Given the description of an element on the screen output the (x, y) to click on. 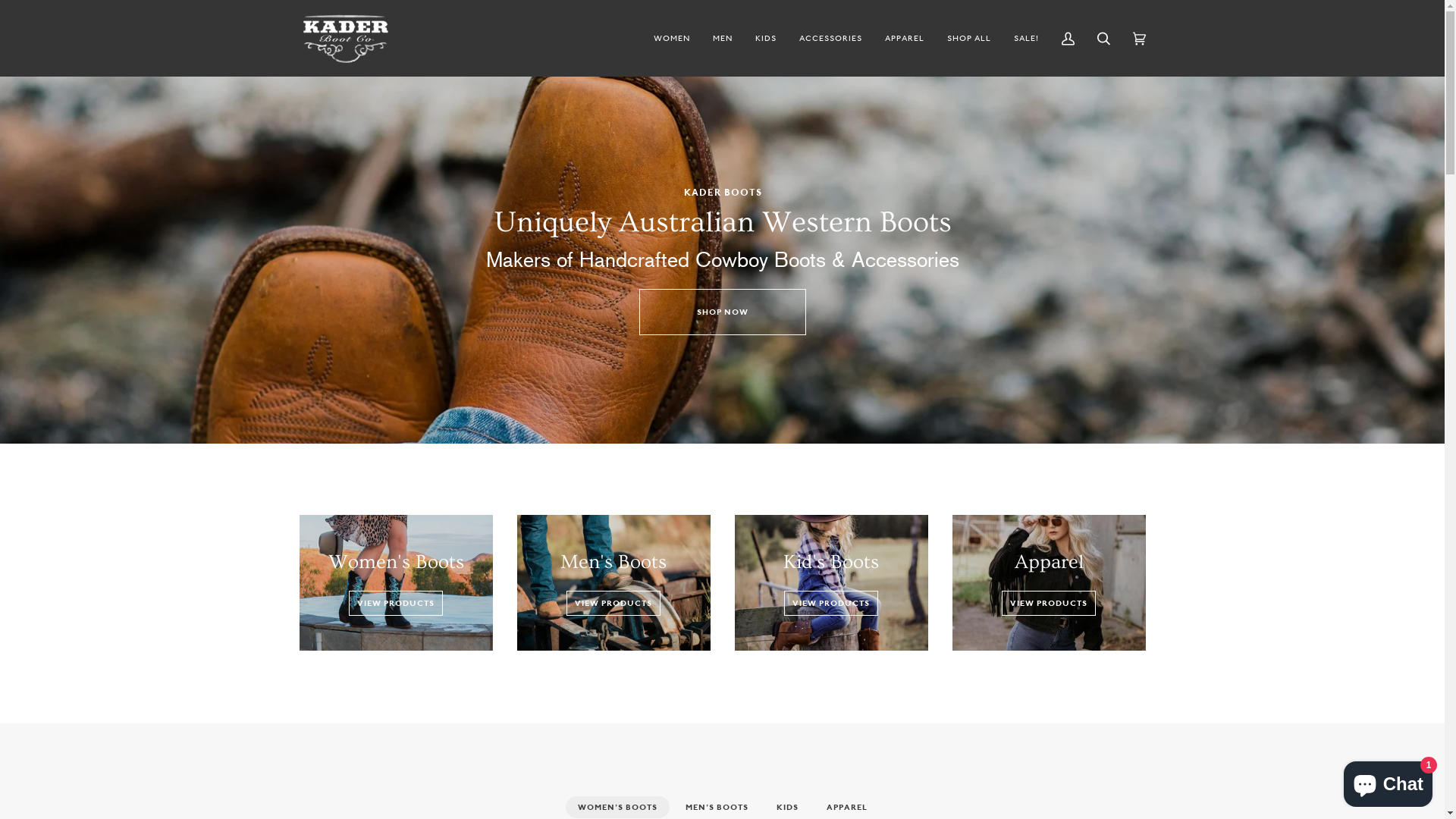
Men's Boots
VIEW PRODUCTS Element type: text (613, 582)
MEN Element type: text (721, 38)
APPAREL Element type: text (904, 38)
Cart
(0) Element type: text (1138, 38)
KIDS Element type: text (765, 38)
Apparel
VIEW PRODUCTS Element type: text (1048, 582)
SALE! Element type: text (1026, 38)
SHOP NOW Element type: text (721, 311)
My Account Element type: text (1067, 38)
WOMEN Element type: text (670, 38)
SHOP ALL Element type: text (968, 38)
Women's Boots
VIEW PRODUCTS Element type: text (395, 582)
ACCESSORIES Element type: text (829, 38)
Shopify online store chat Element type: hover (1388, 780)
Kid's Boots
VIEW PRODUCTS Element type: text (830, 582)
Search Element type: text (1103, 38)
